Given the description of an element on the screen output the (x, y) to click on. 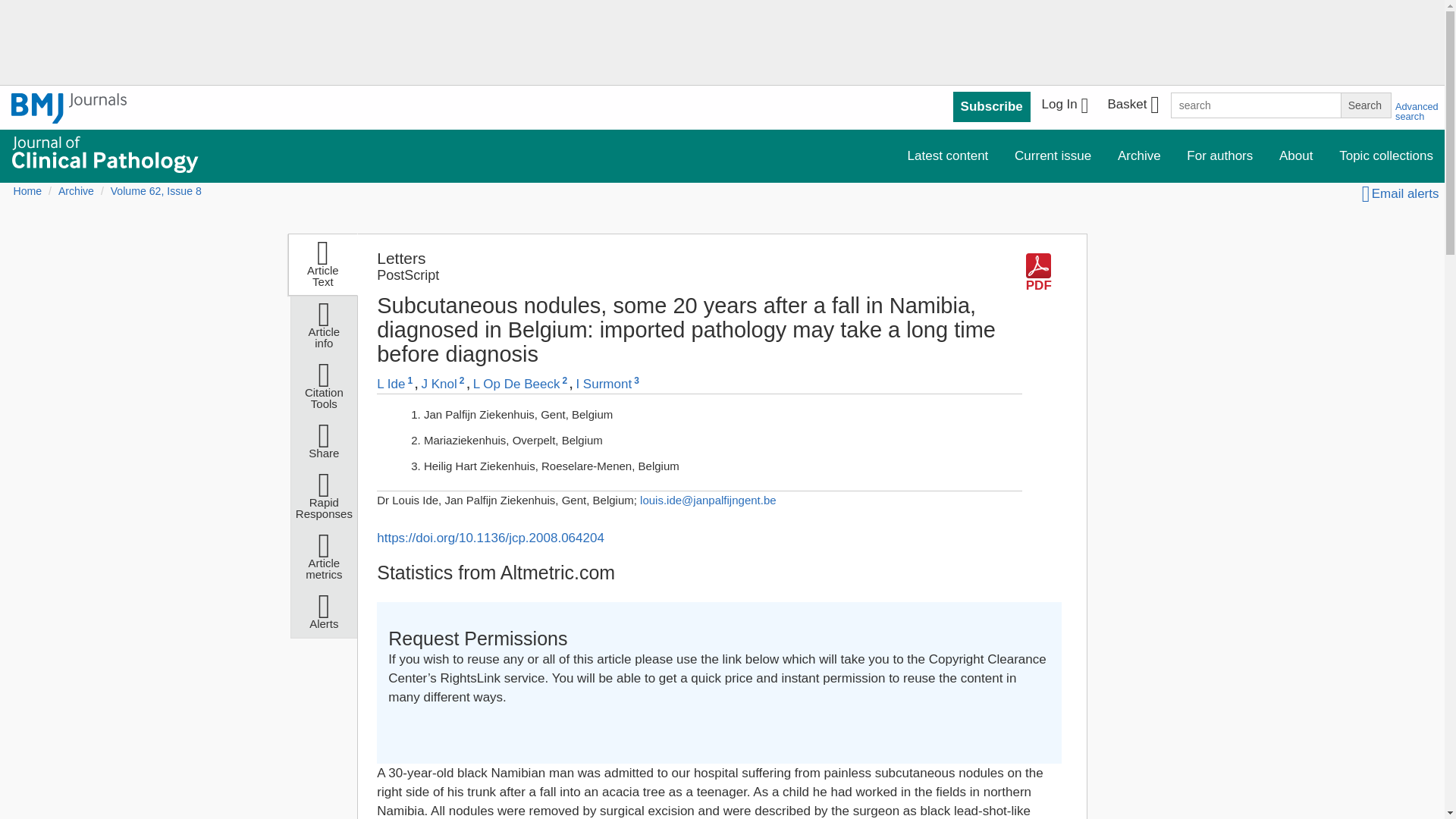
Latest content (948, 155)
Advanced search (1416, 111)
Basket (1132, 106)
Subscribe (991, 106)
BMJ Journals (68, 108)
About (1295, 155)
3rd party ad content (721, 45)
Search (1364, 104)
Archive (1139, 155)
